Given the description of an element on the screen output the (x, y) to click on. 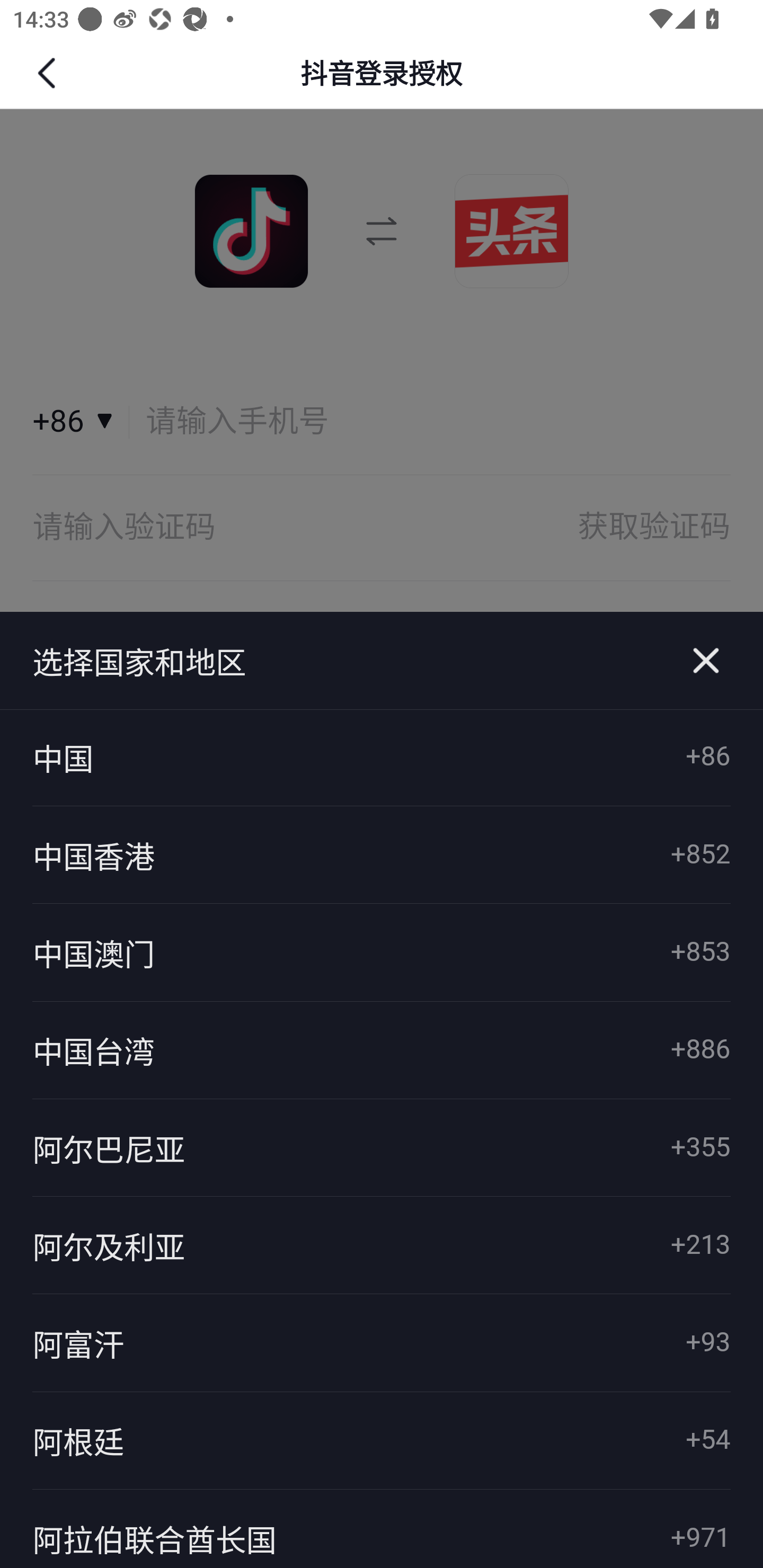
返回 (49, 72)
一键授权 (381, 658)
关闭 (705, 660)
中国+86 (381, 757)
中国香港+852 (381, 854)
中国澳门+853 (381, 952)
中国台湾+886 (381, 1049)
阿尔巴尼亚+355 (381, 1147)
阿尔及利亚+213 (381, 1245)
阿富汗+93 (381, 1343)
阿根廷+54 (381, 1440)
阿拉伯联合酋长国+971 (381, 1528)
